Given the description of an element on the screen output the (x, y) to click on. 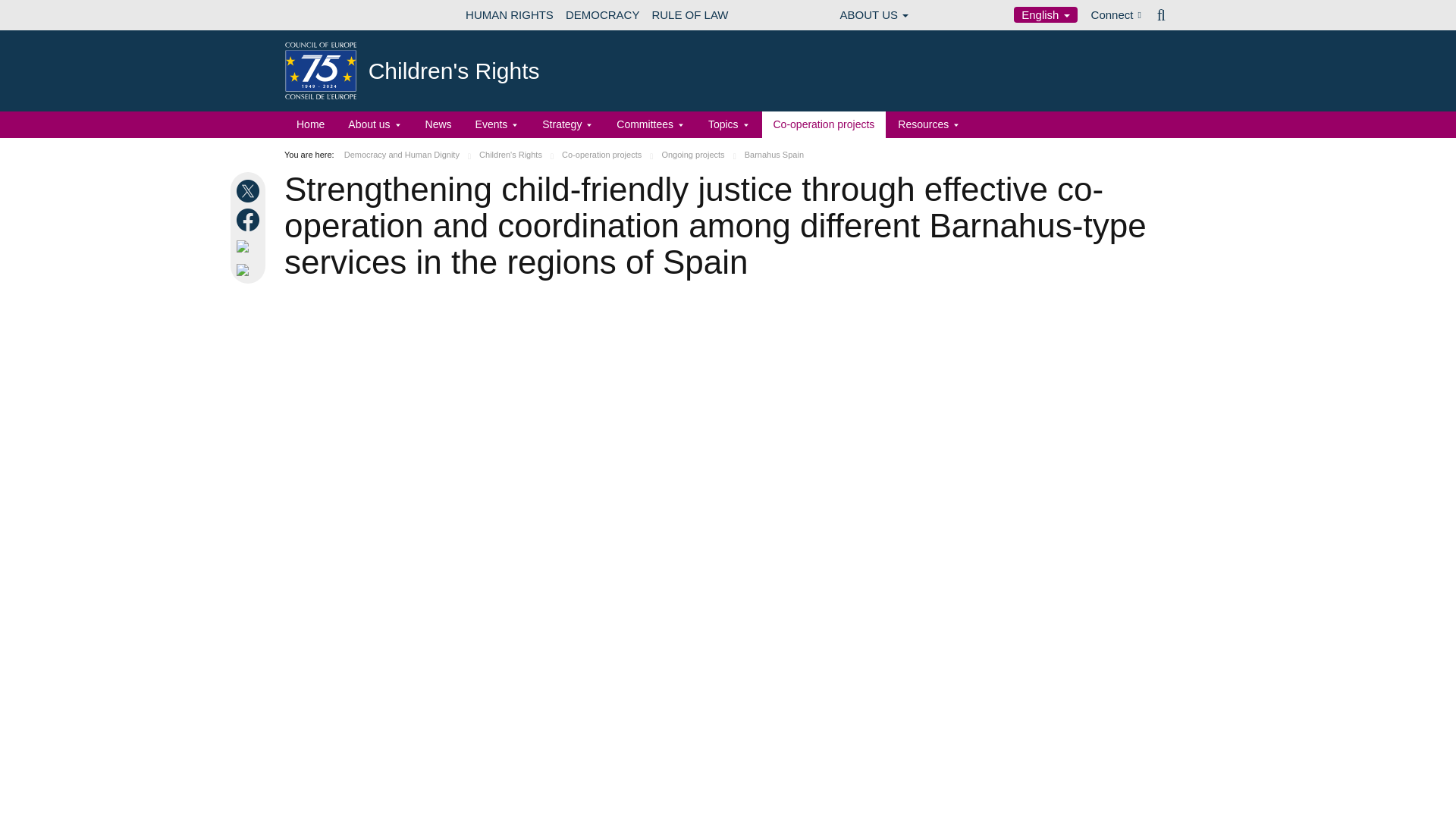
ABOUT US (874, 15)
HUMAN RIGHTS (509, 15)
WWW.COE.INT (321, 15)
DEMOCRACY (602, 15)
RULE OF LAW (689, 15)
English (1045, 14)
Share on Linkedin (249, 245)
Send this page (249, 269)
Share on Facebook (249, 219)
